Given the description of an element on the screen output the (x, y) to click on. 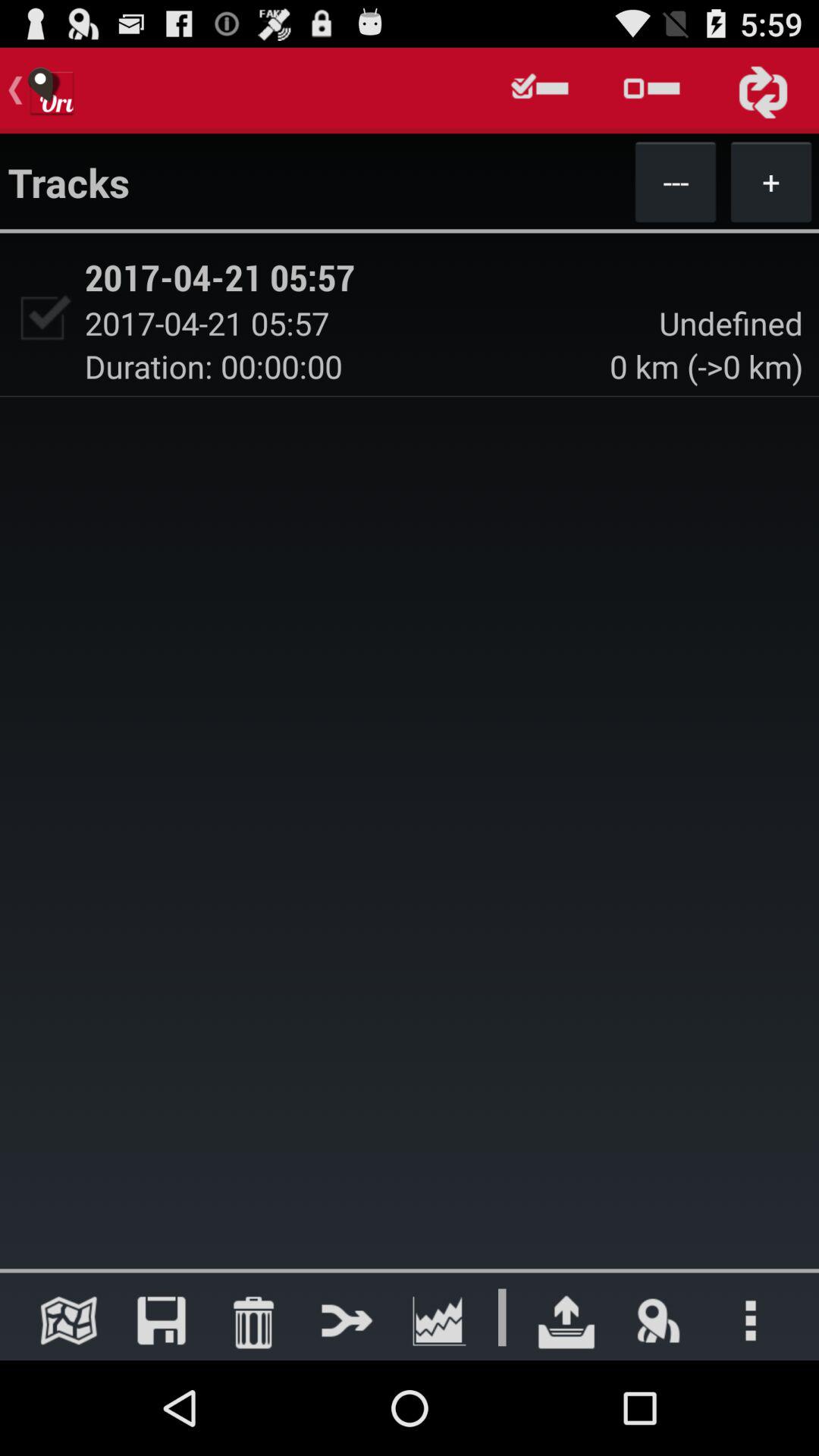
view deleted (253, 1320)
